Given the description of an element on the screen output the (x, y) to click on. 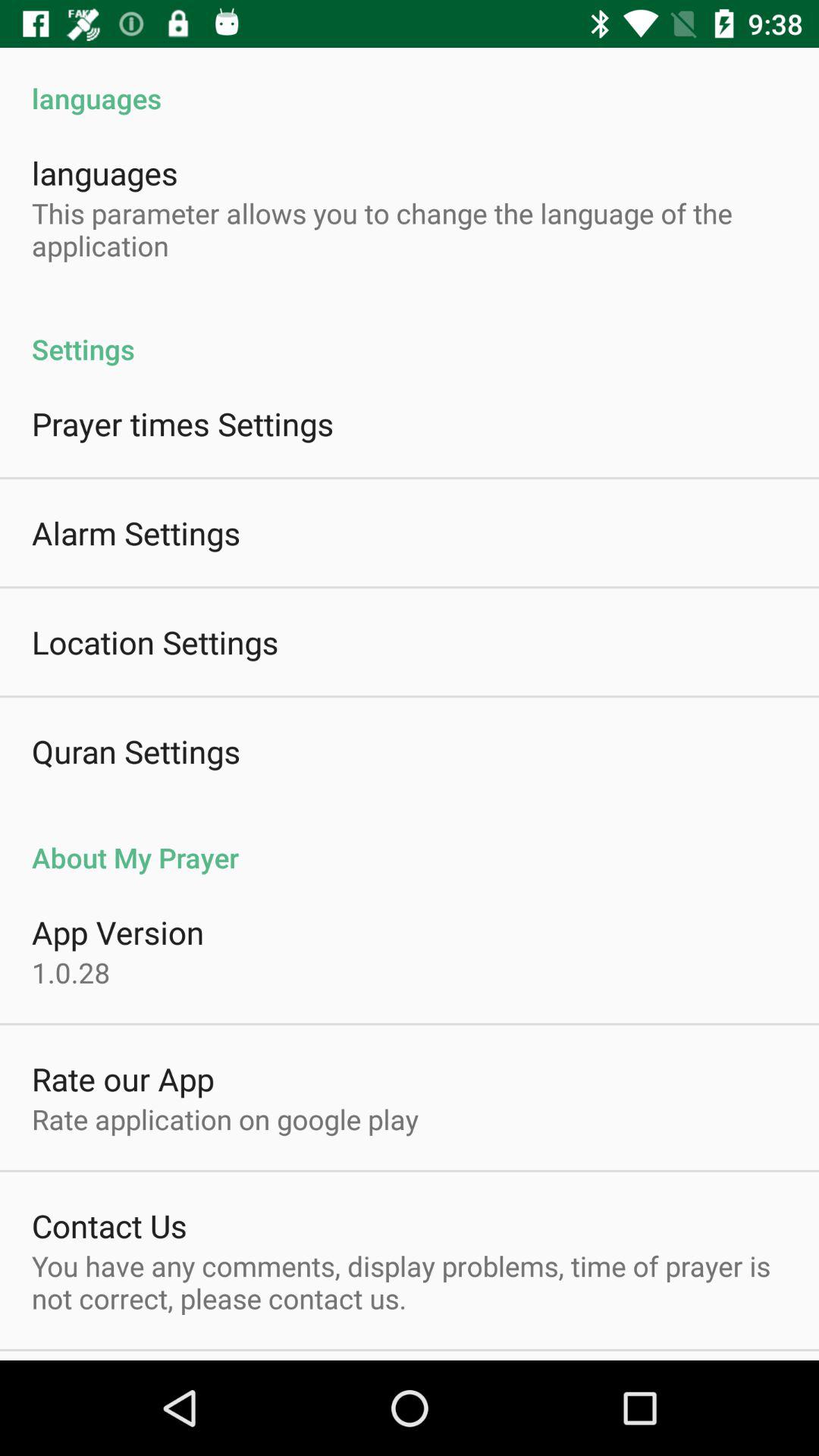
launch the app below settings item (182, 423)
